Given the description of an element on the screen output the (x, y) to click on. 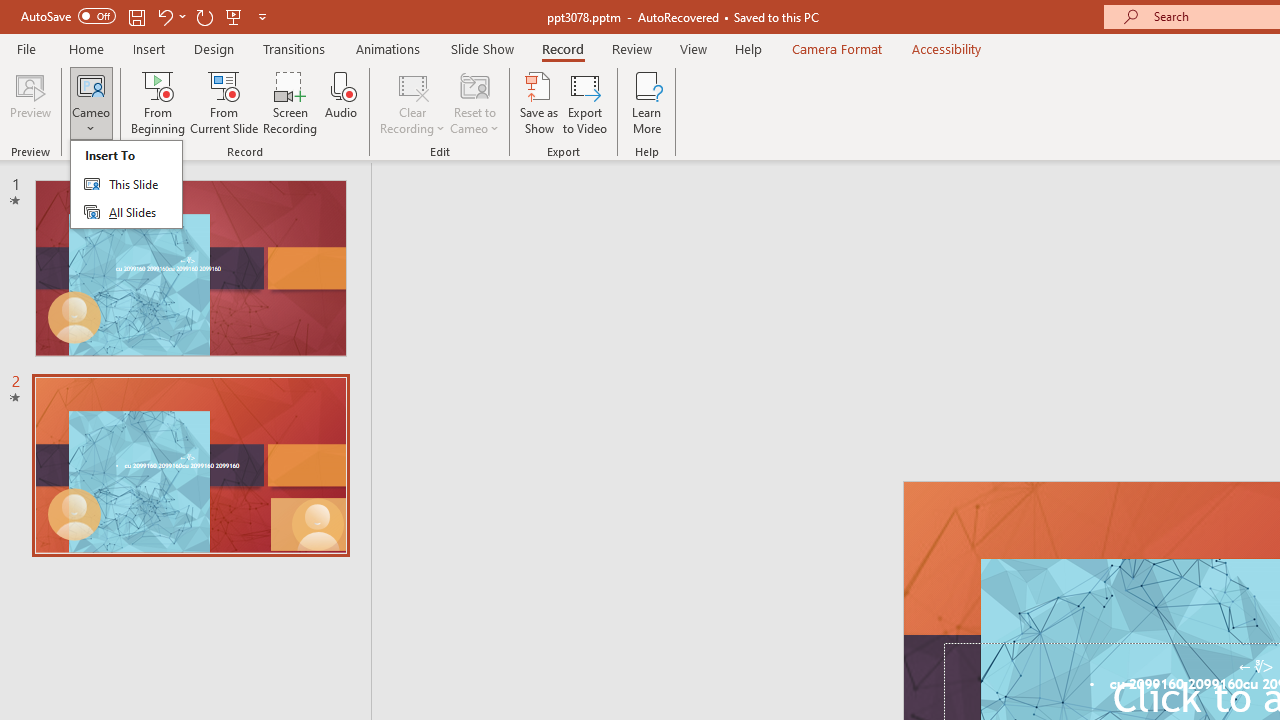
Audio (341, 102)
TextBox 7 (1256, 667)
